Given the description of an element on the screen output the (x, y) to click on. 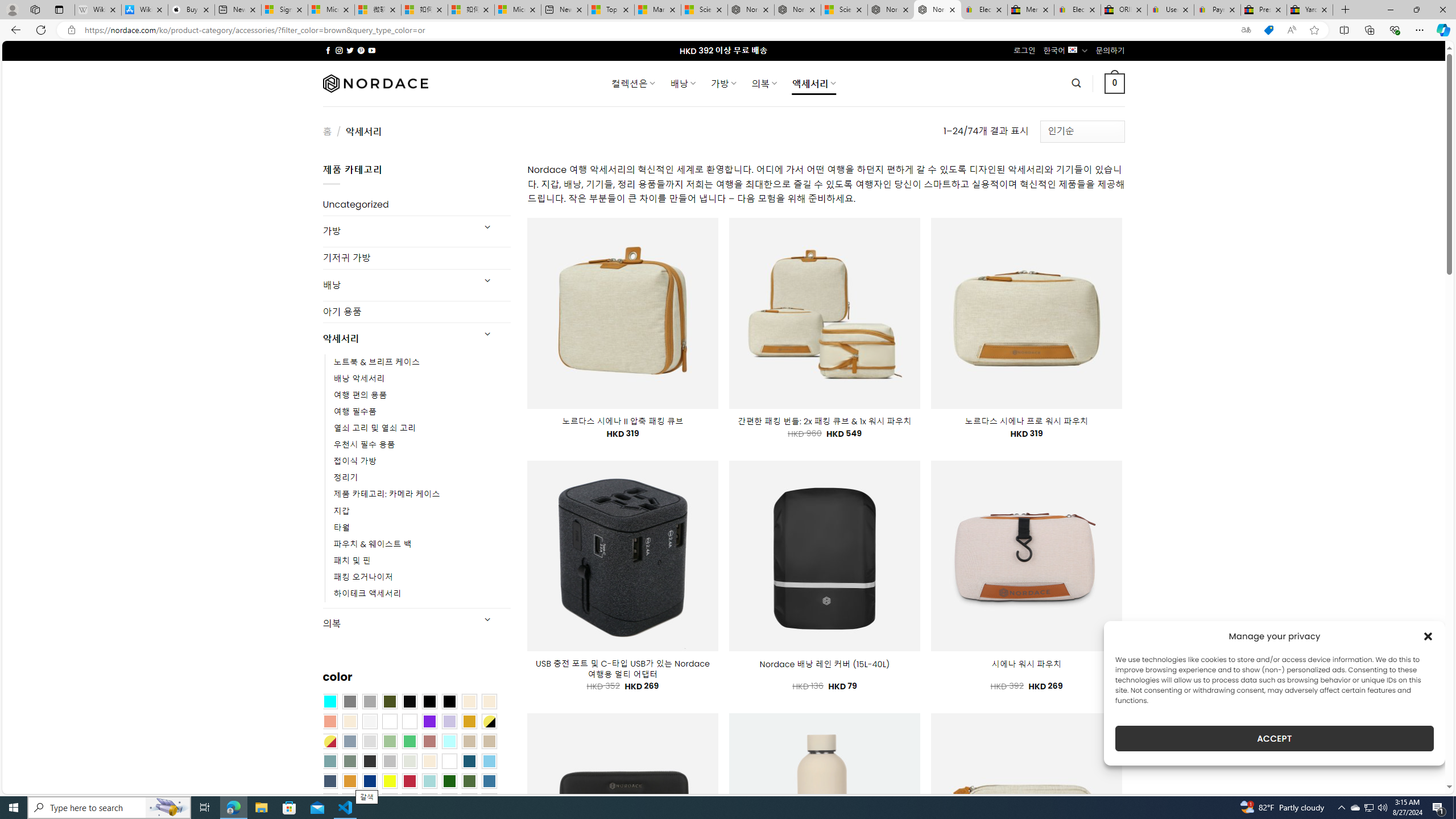
ACCEPT (1274, 738)
